Given the description of an element on the screen output the (x, y) to click on. 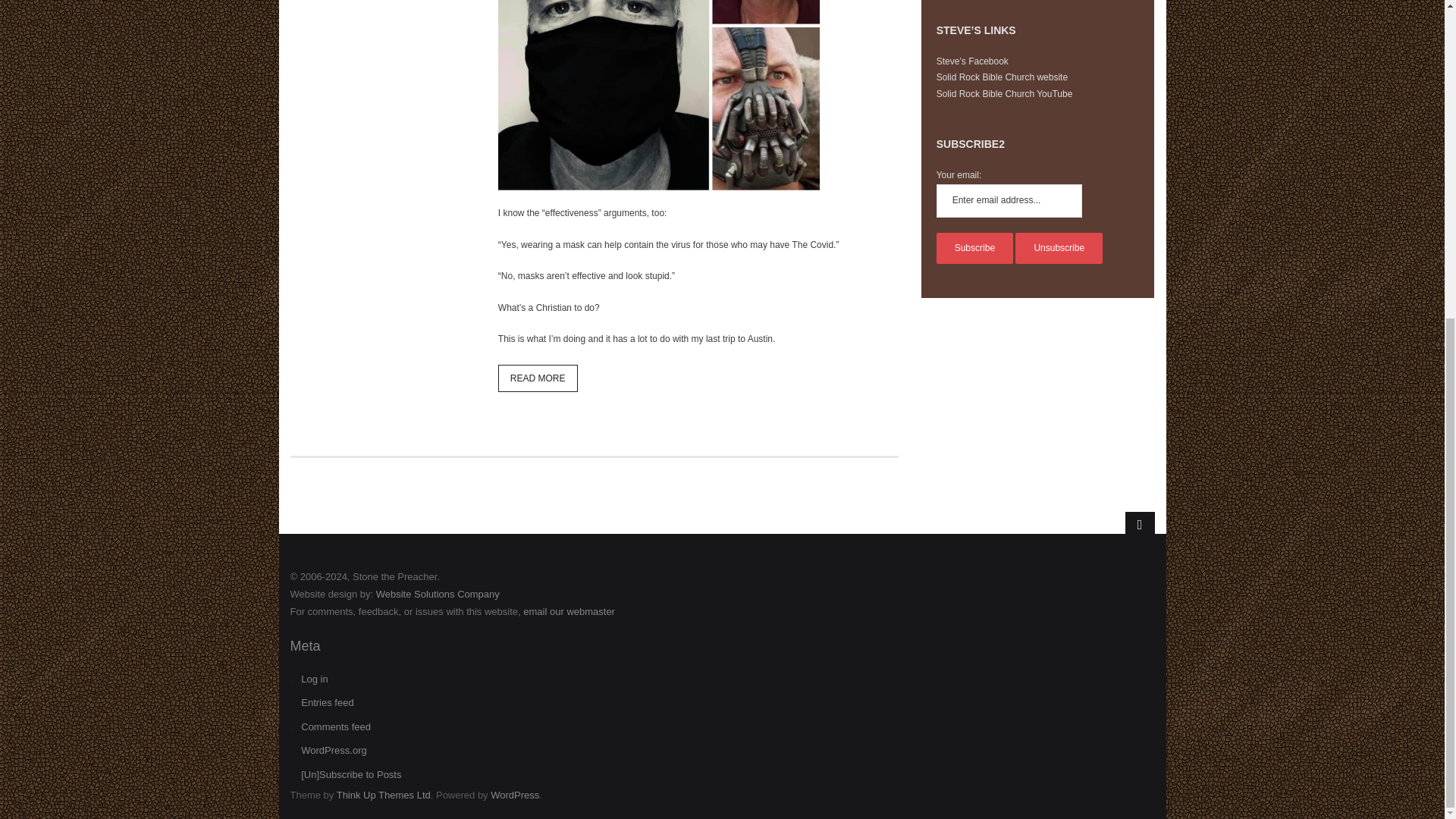
Entries feed (321, 702)
Subscribe (974, 248)
WordPress.org (327, 750)
Subscribe (974, 248)
Solid Rock Bible Church website (1001, 77)
Website Solutions Company (437, 593)
Unsubscribe (1058, 248)
READ MORE (537, 378)
WordPress (514, 794)
Enter email address... (1008, 200)
